Given the description of an element on the screen output the (x, y) to click on. 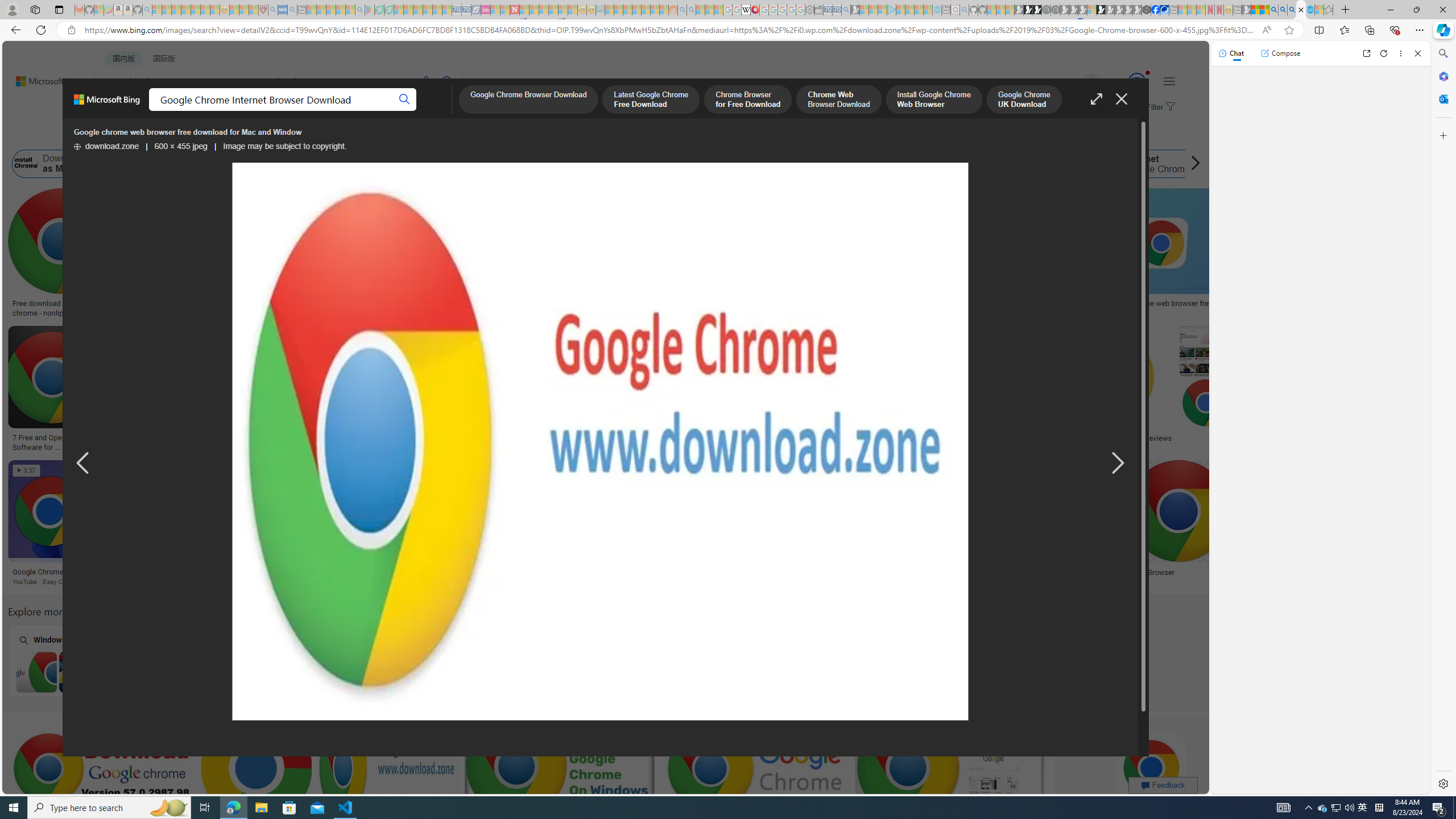
What Is The Fastest Browser To Use With Windows 10Save (1037, 524)
Bing AI - Search (1272, 9)
Windows 7 (78, 660)
How to download google chrome apps - snoml (484, 441)
MediaWiki (754, 9)
Date (336, 135)
All Categories - humanrewaSave (605, 390)
Back to Bing search (41, 78)
Image size (126, 135)
